Given the description of an element on the screen output the (x, y) to click on. 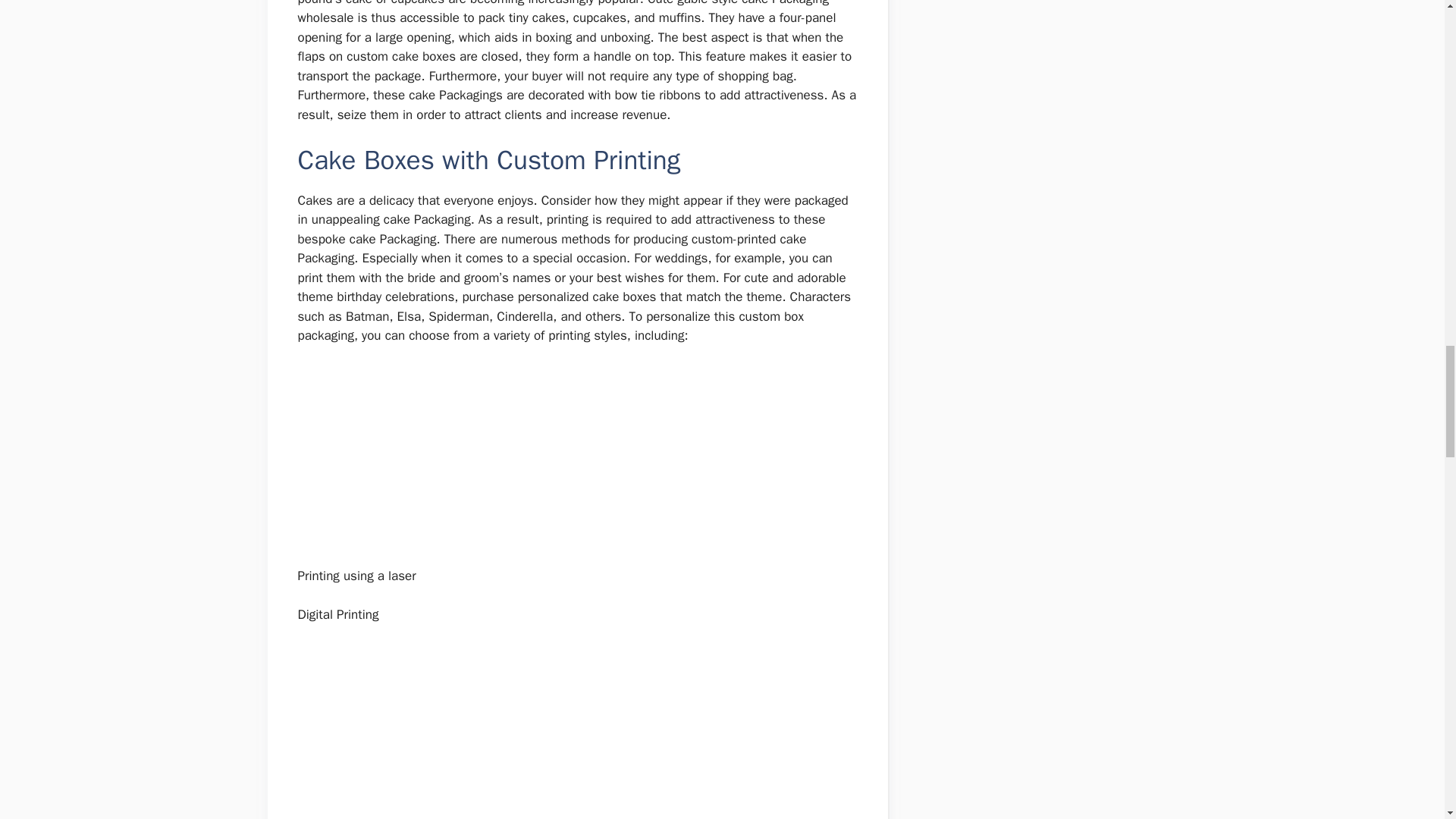
Advertisement (577, 731)
Advertisement (577, 459)
